Given the description of an element on the screen output the (x, y) to click on. 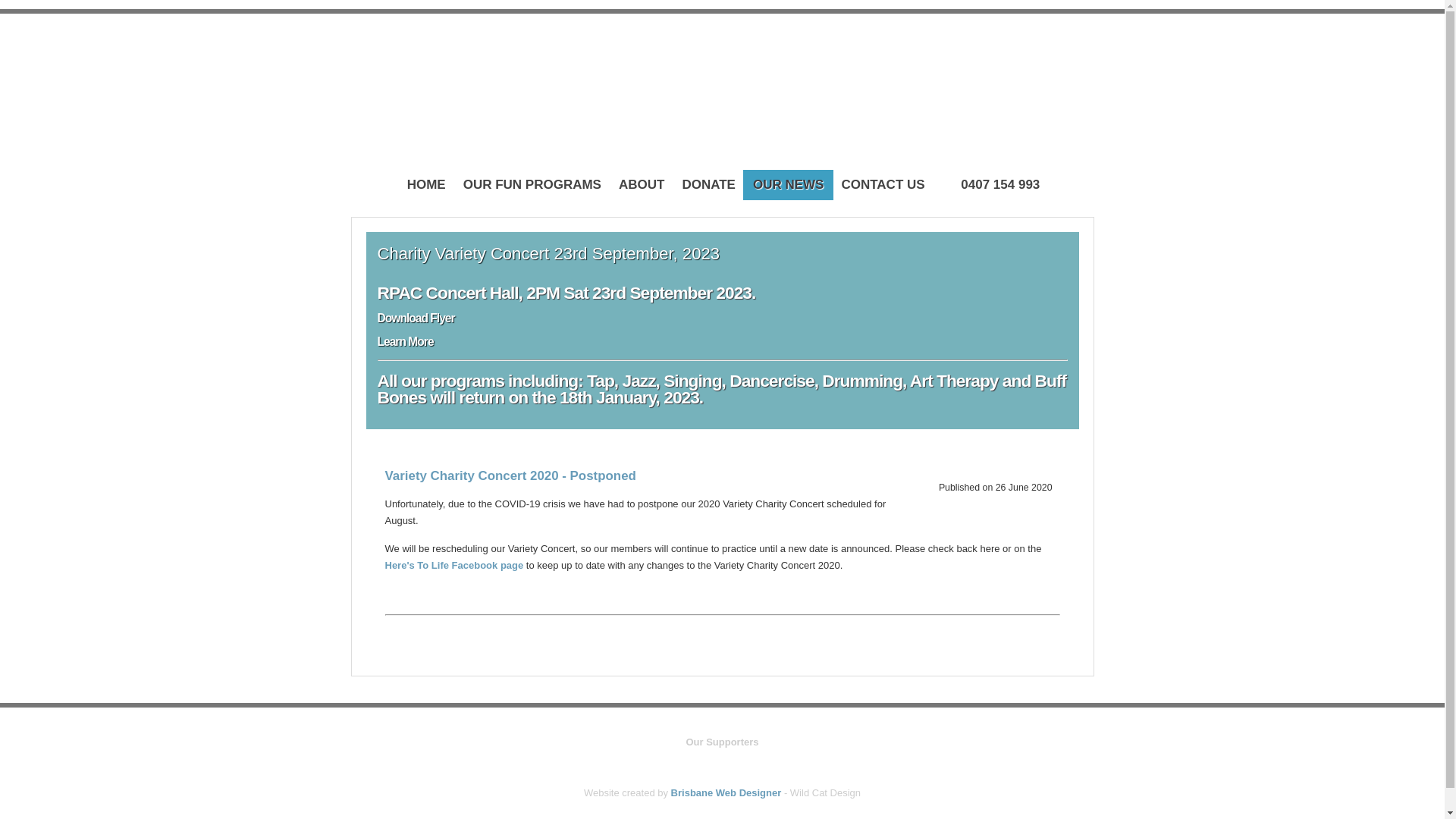
HOME Element type: text (426, 184)
Variety Charity Concert 2020 - Postponed Element type: text (510, 475)
Here's To Life Facebook page Element type: text (454, 565)
Learn More Element type: text (405, 341)
Brisbane Web Designer Element type: text (726, 792)
CONTACT US Element type: text (882, 184)
DONATE Element type: text (708, 184)
Download Flyer Element type: text (416, 317)
OUR NEWS Element type: text (788, 184)
0407 154 993 Element type: text (991, 184)
